Given the description of an element on the screen output the (x, y) to click on. 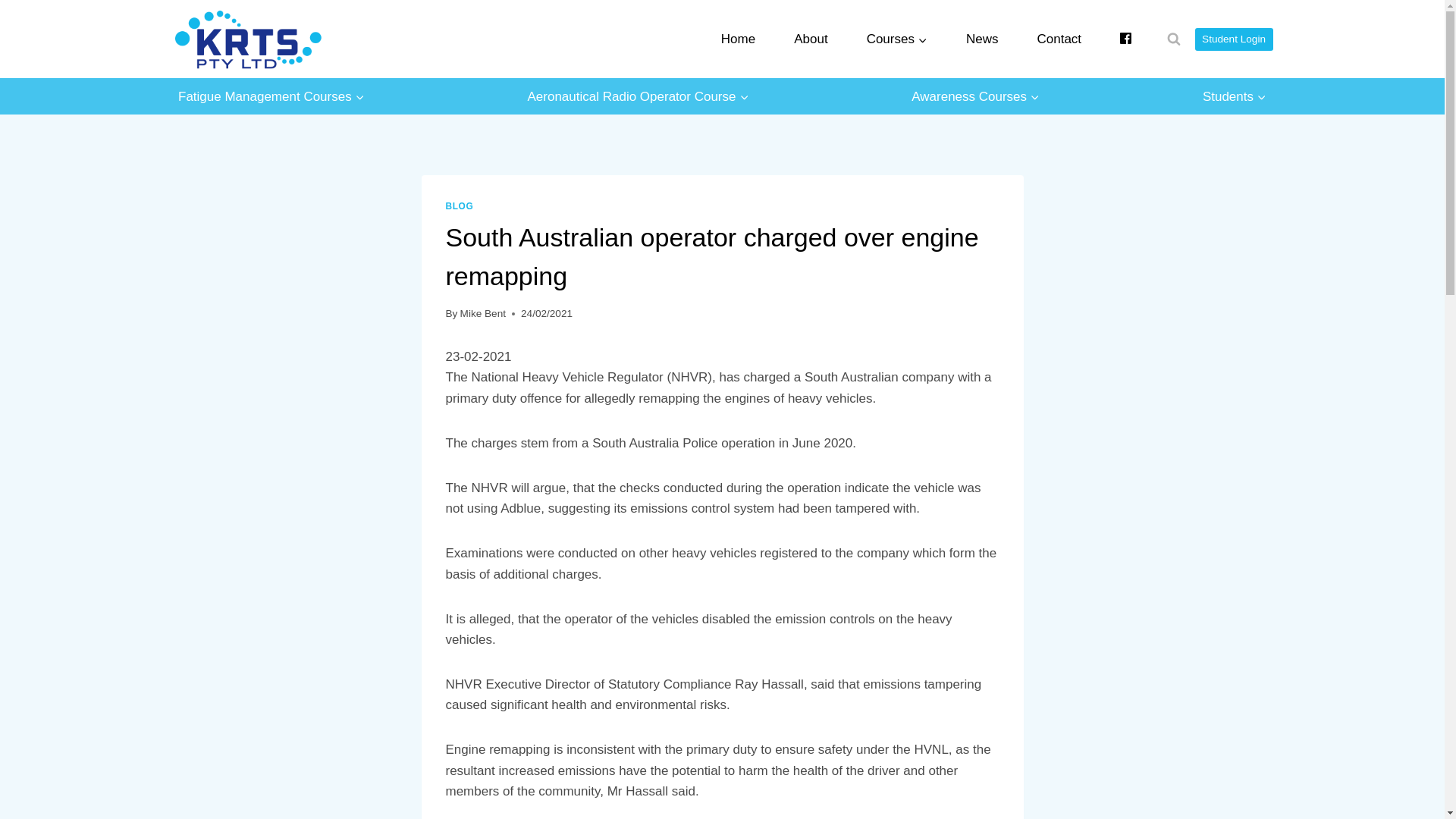
Mike Bent (482, 313)
Courses (896, 39)
Awareness Courses (975, 95)
About (810, 39)
BLOG (459, 205)
Contact (1058, 39)
Student Login (1233, 38)
Fatigue Management Courses (271, 95)
Home (737, 39)
News (981, 39)
Students (1233, 95)
Aeronautical Radio Operator Course (638, 95)
